Given the description of an element on the screen output the (x, y) to click on. 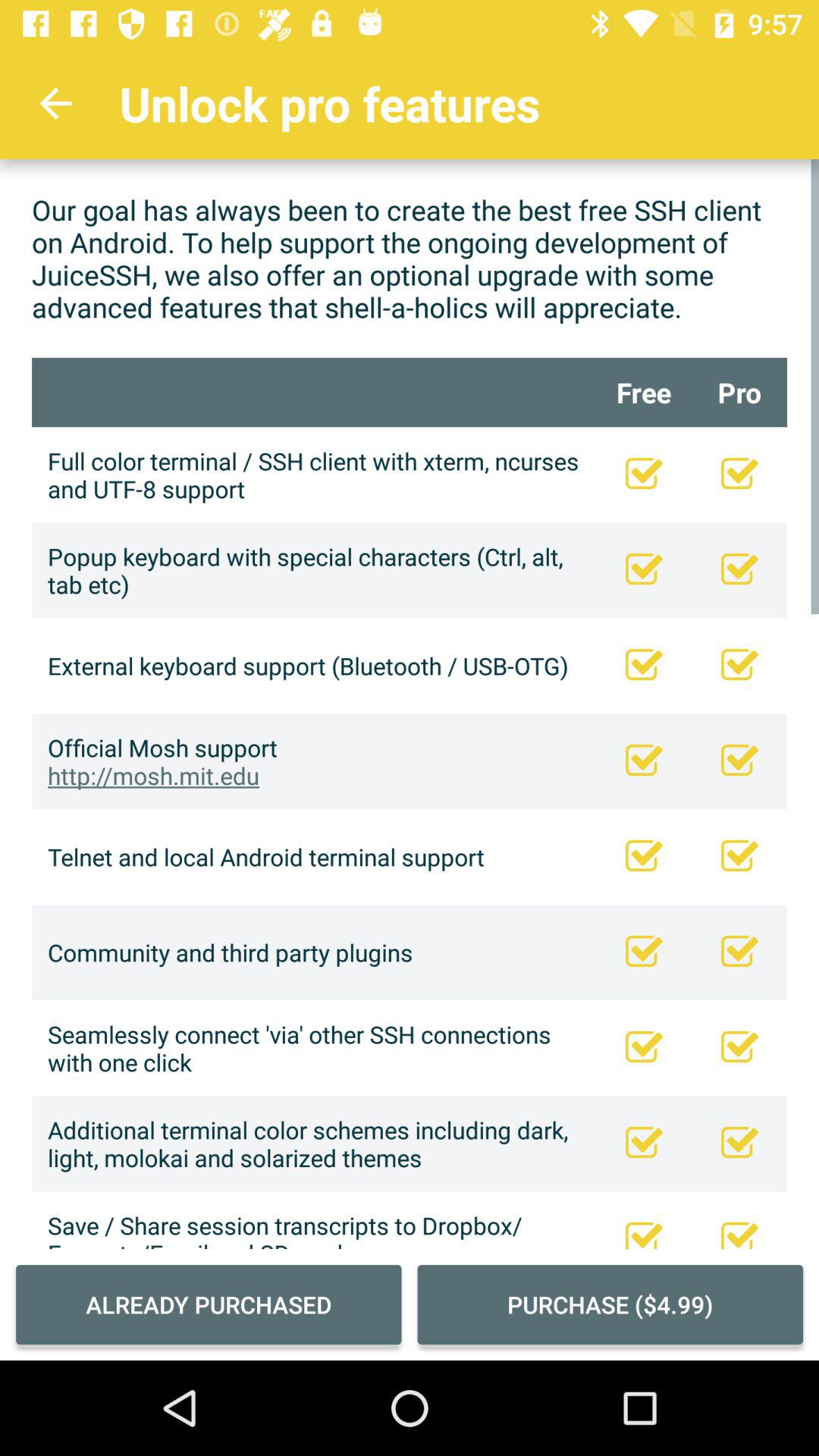
tap the icon below the save share session item (208, 1304)
